Given the description of an element on the screen output the (x, y) to click on. 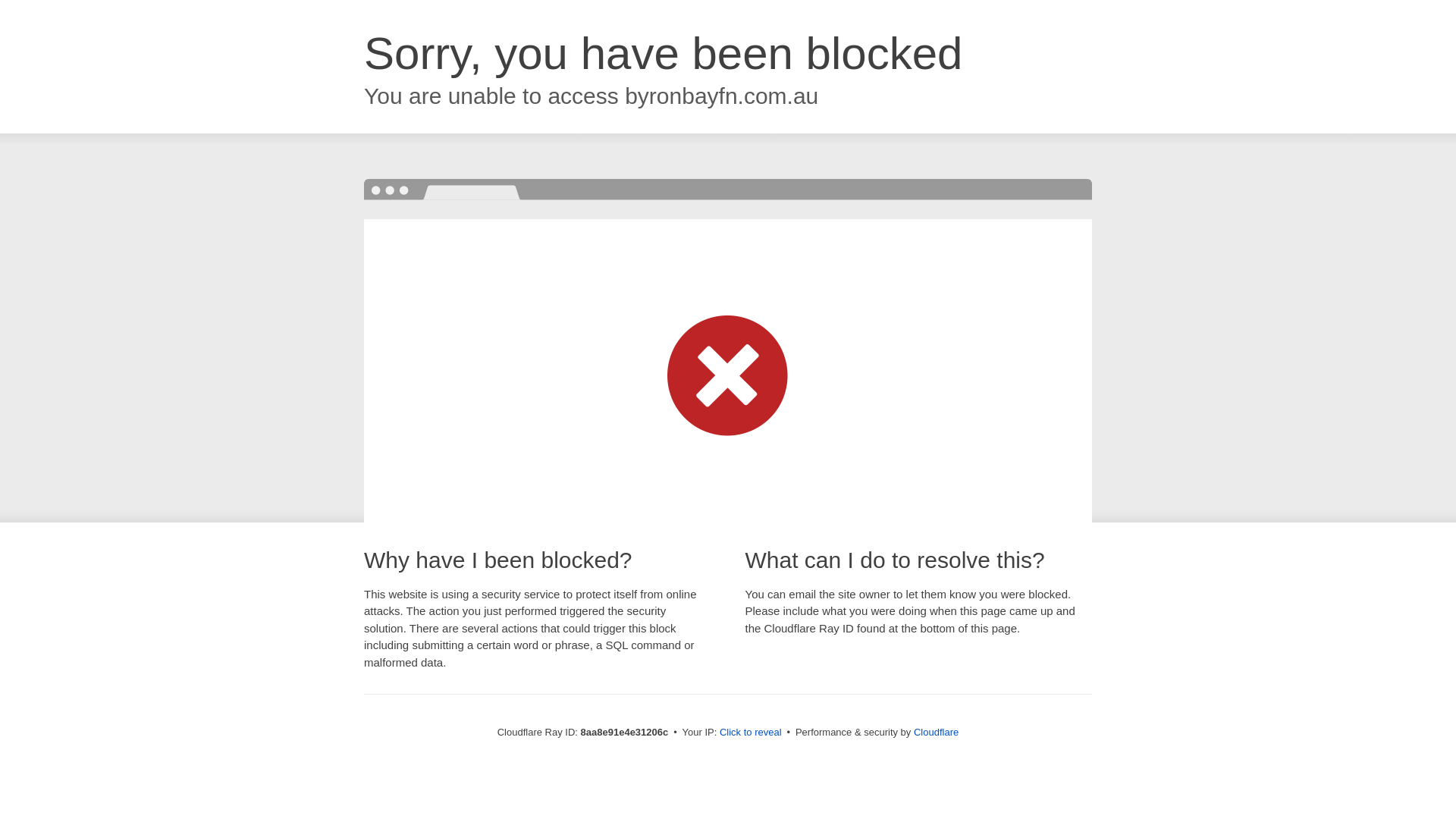
Click to reveal (750, 732)
Cloudflare (936, 731)
